Given the description of an element on the screen output the (x, y) to click on. 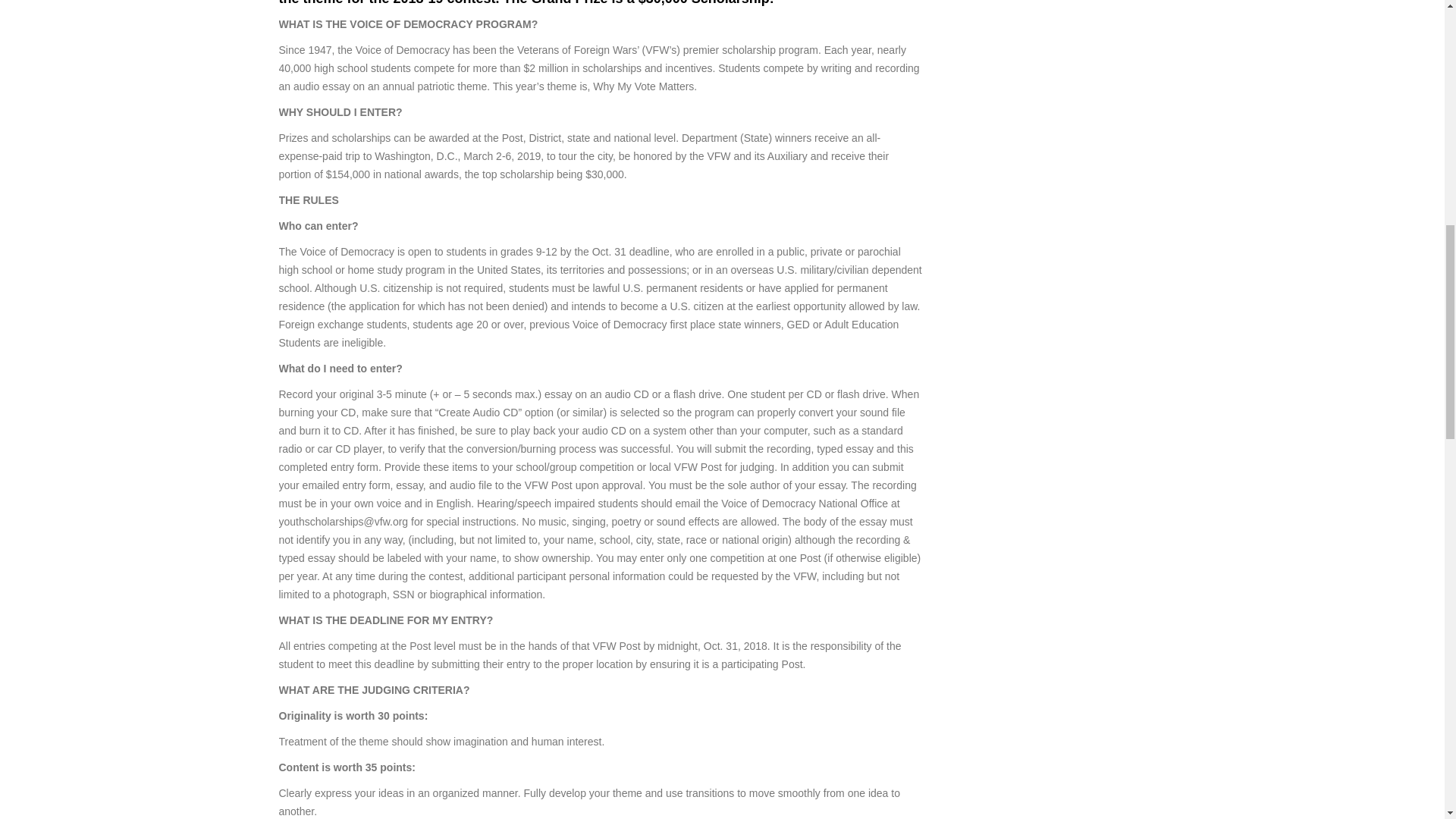
Page 2 (601, 714)
Page 2 (601, 749)
